Given the description of an element on the screen output the (x, y) to click on. 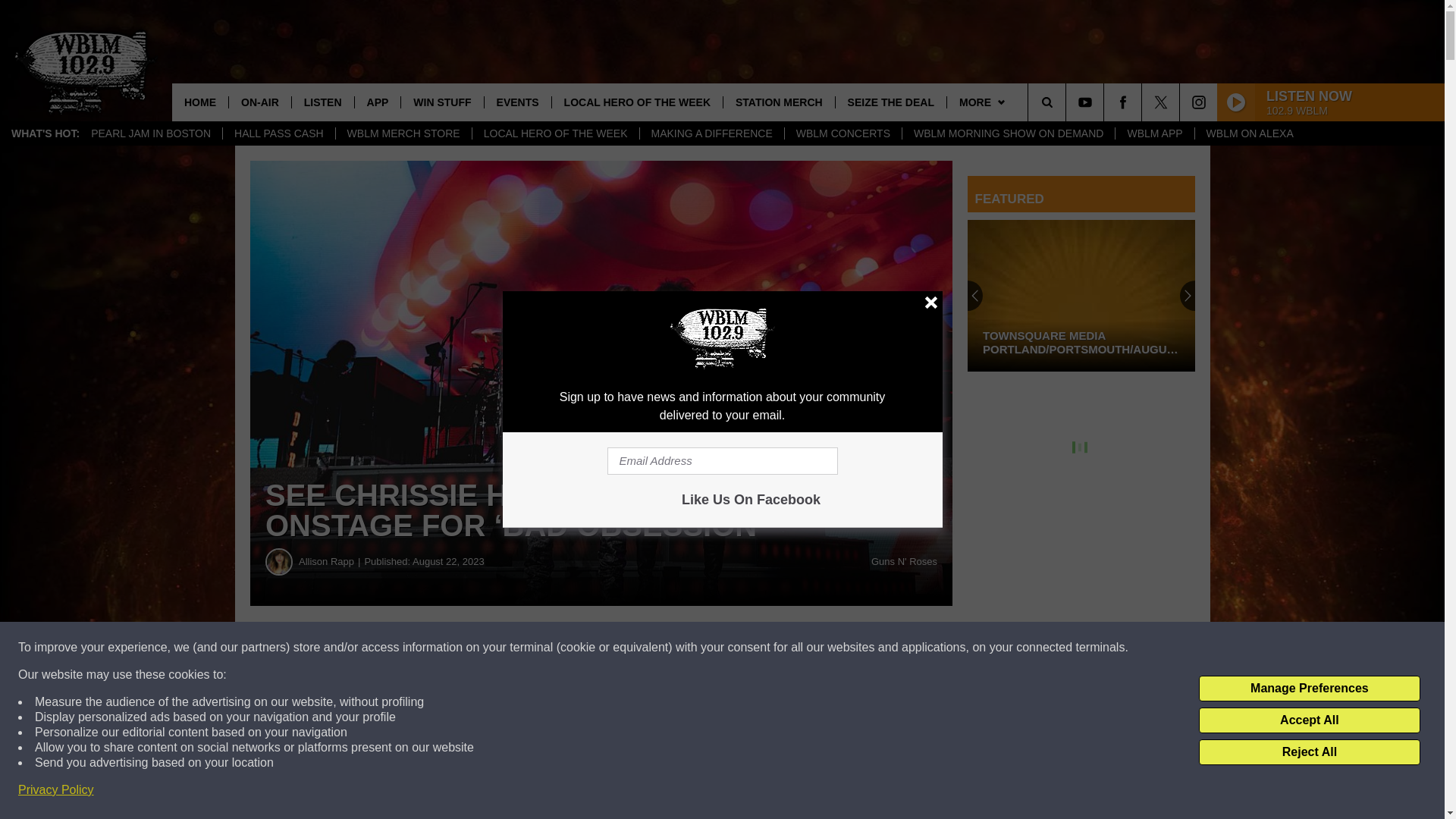
TWEET (741, 647)
MAKING A DIFFERENCE (711, 133)
PEARL JAM IN BOSTON (151, 133)
HALL PASS CASH (278, 133)
LISTEN (322, 102)
ON-AIR (259, 102)
HOME (199, 102)
Email Address (722, 461)
WBLM CONCERTS (842, 133)
SEARCH (1068, 102)
WBLM ON ALEXA (1248, 133)
WBLM APP (1154, 133)
SHARE (460, 647)
WBLM MERCH STORE (402, 133)
APP (377, 102)
